Given the description of an element on the screen output the (x, y) to click on. 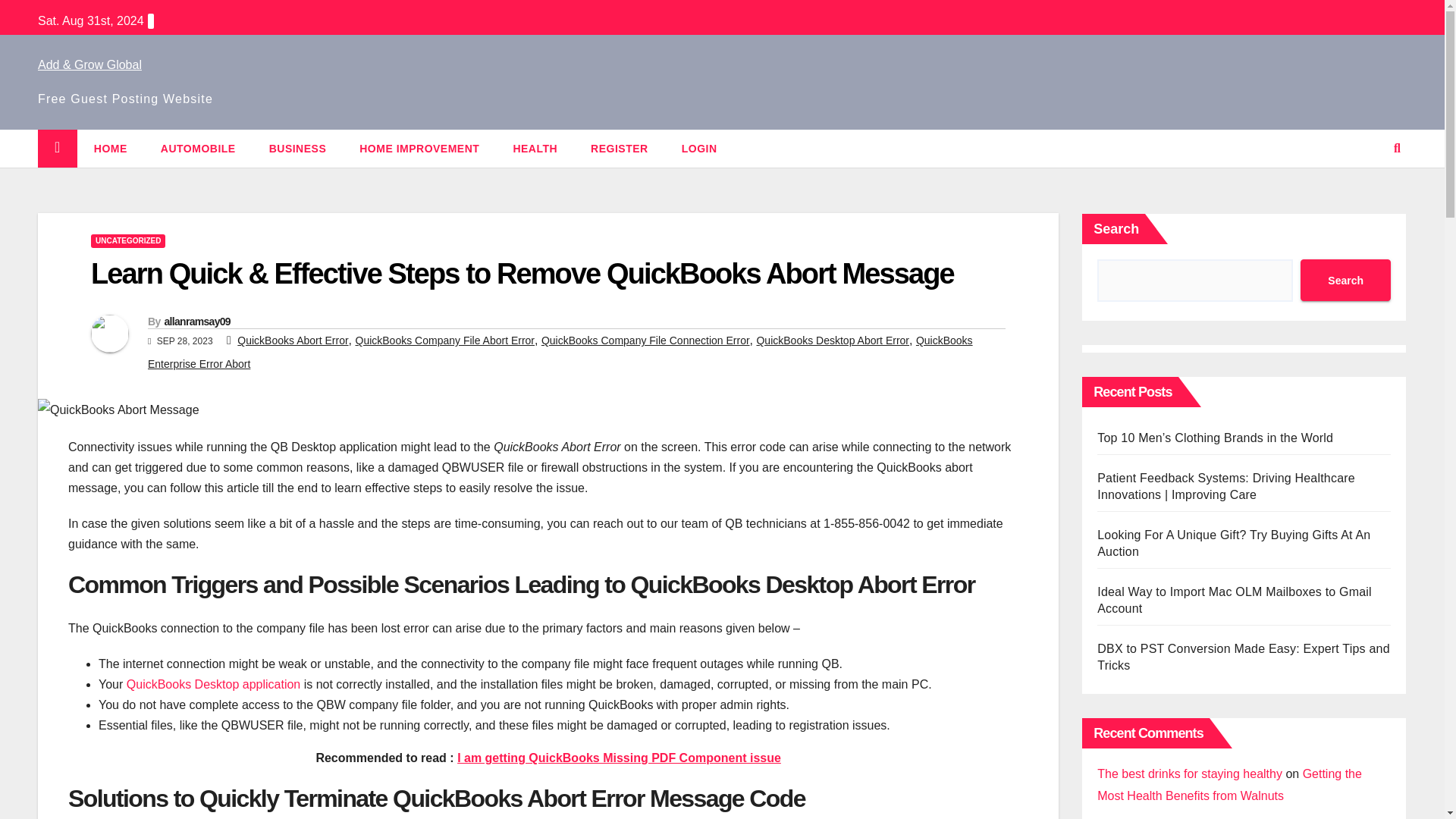
QuickBooks Company File Abort Error (444, 340)
HEALTH (534, 148)
REGISTER (619, 148)
I am getting QuickBooks Missing PDF Component issue (618, 757)
Health (534, 148)
QuickBooks Abort Message (118, 409)
HOME IMPROVEMENT (419, 148)
Business (297, 148)
HOME (110, 148)
QuickBooks Desktop Abort Error (831, 340)
